Given the description of an element on the screen output the (x, y) to click on. 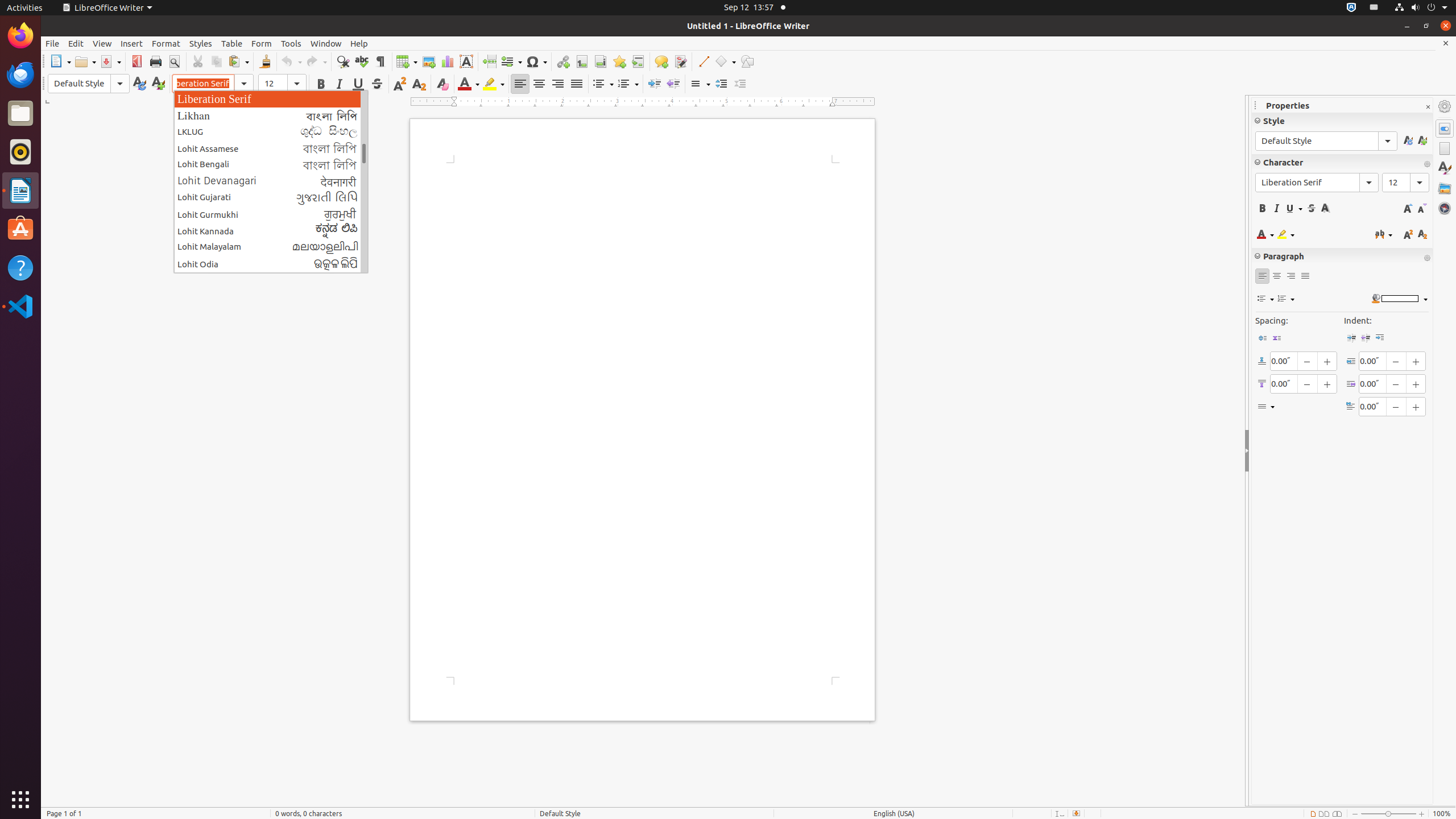
Show Applications Element type: toggle-button (20, 799)
Paragraph Style Element type: combo-box (88, 83)
Edit Element type: menu (75, 43)
Thunderbird Mail Element type: push-button (20, 74)
Hanging Indent Element type: push-button (1379, 337)
